Given the description of an element on the screen output the (x, y) to click on. 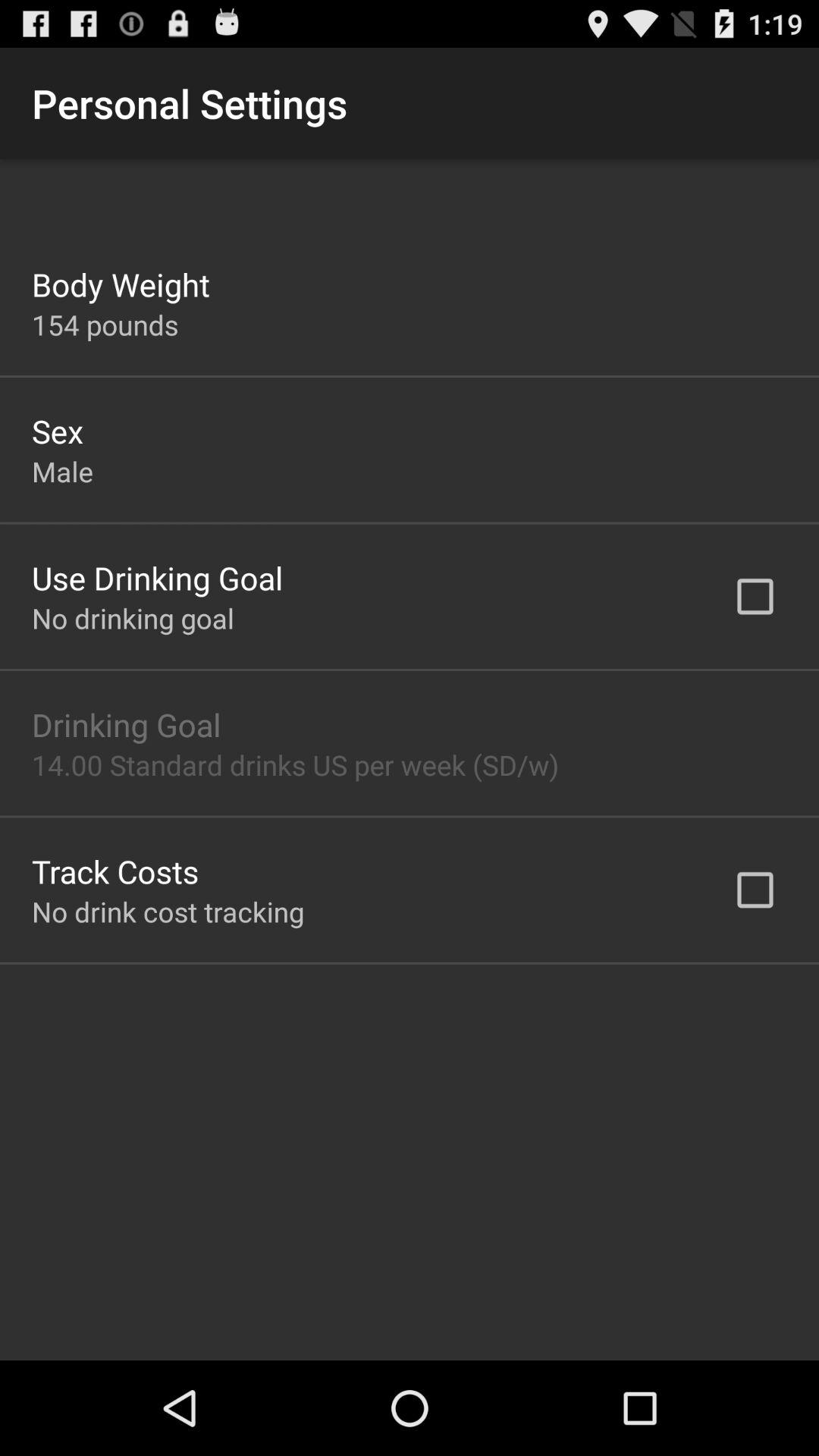
jump to the no drink cost (167, 911)
